Given the description of an element on the screen output the (x, y) to click on. 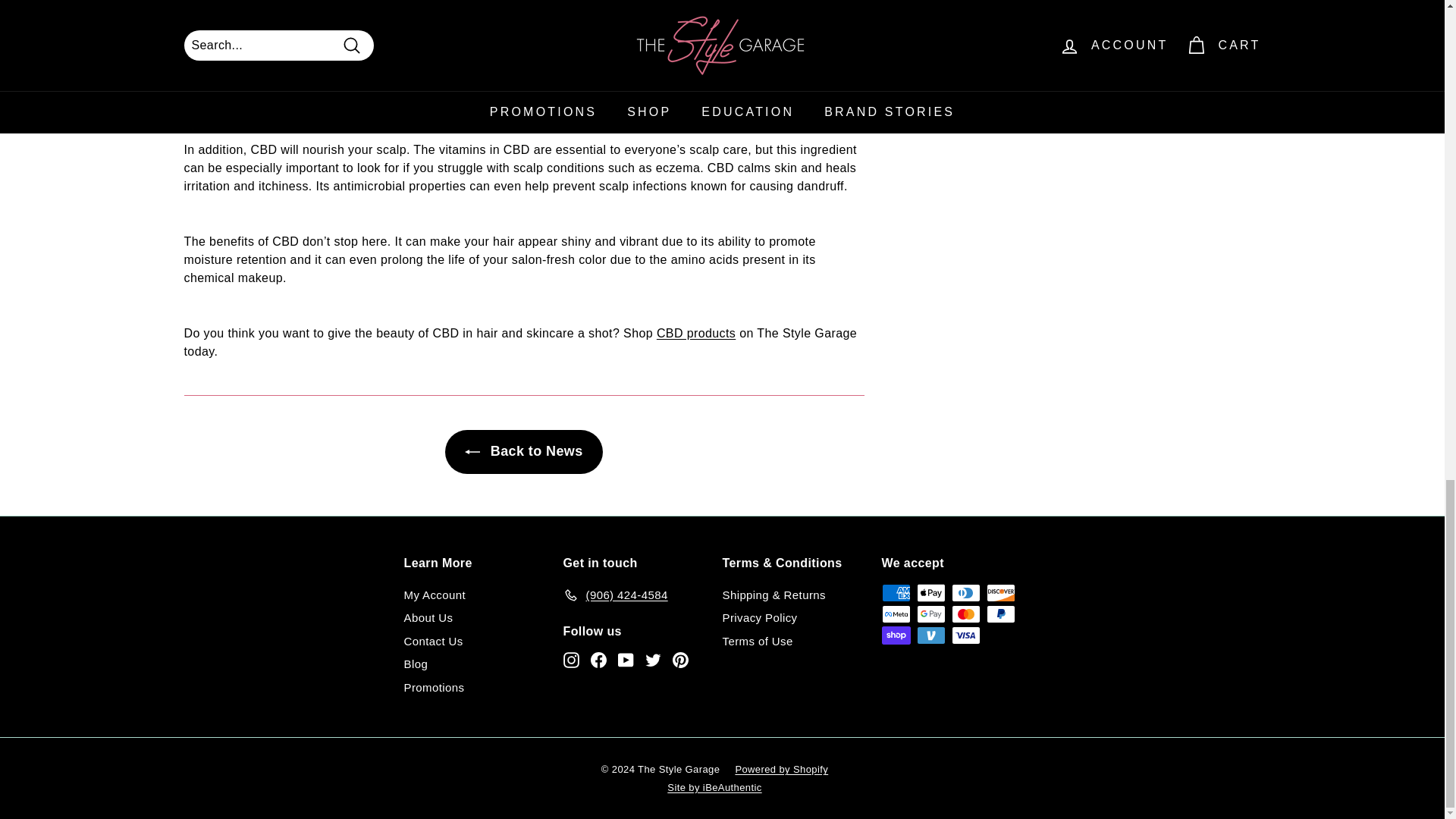
Apple Pay (929, 592)
American Express (895, 592)
The Style Garage on YouTube (625, 659)
The Style Garage on Instagram (570, 659)
The Style Garage on Twitter (653, 659)
Meta Pay (895, 614)
Google Pay (929, 614)
The Style Garage on Facebook (597, 659)
Discover (999, 592)
The Style Garage on Pinterest (679, 659)
Diners Club (964, 592)
